Given the description of an element on the screen output the (x, y) to click on. 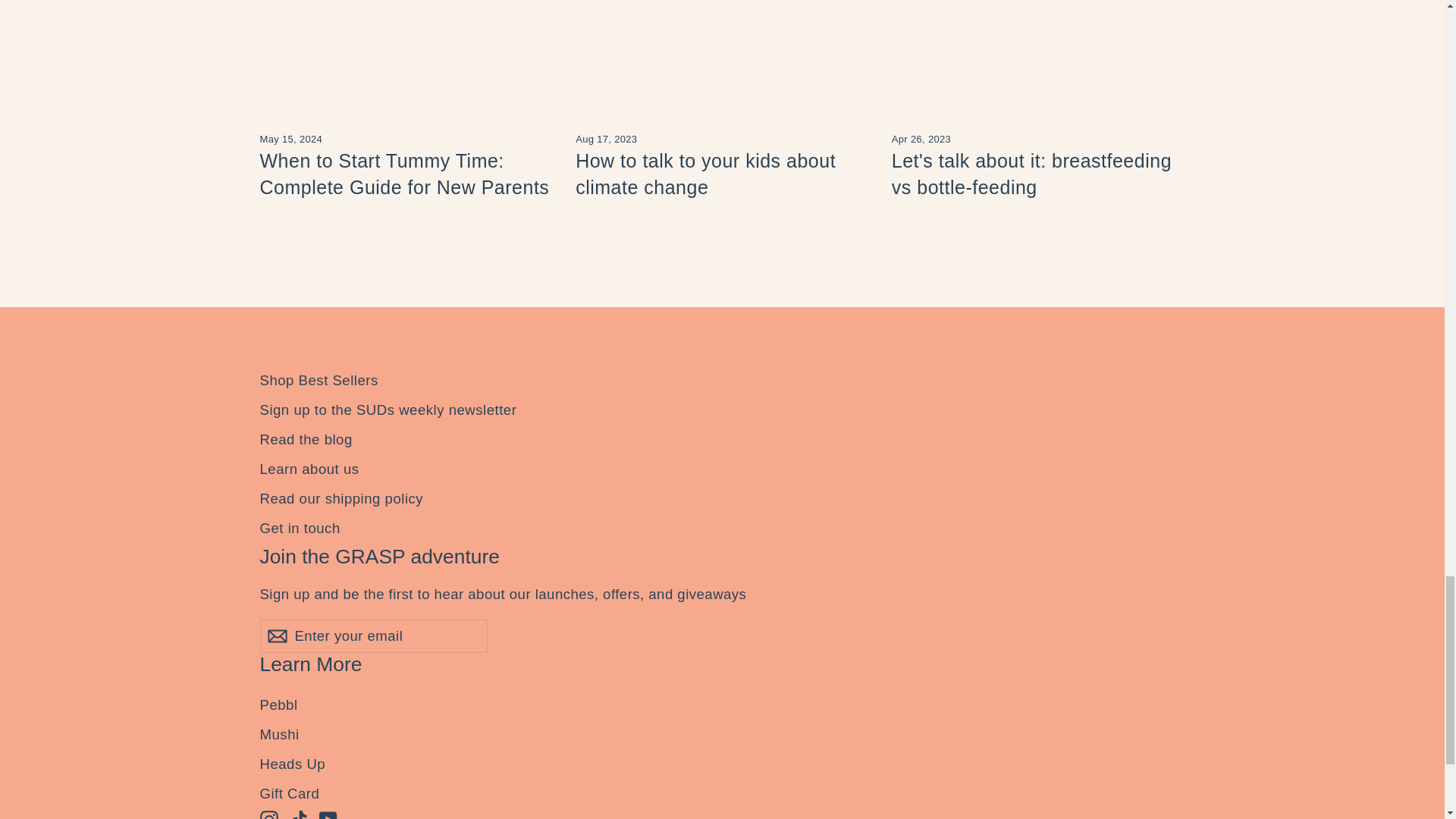
GRASP LONDON on TikTok (298, 814)
GRASP LONDON on Instagram (268, 814)
GRASP LONDON on YouTube (327, 814)
